Given the description of an element on the screen output the (x, y) to click on. 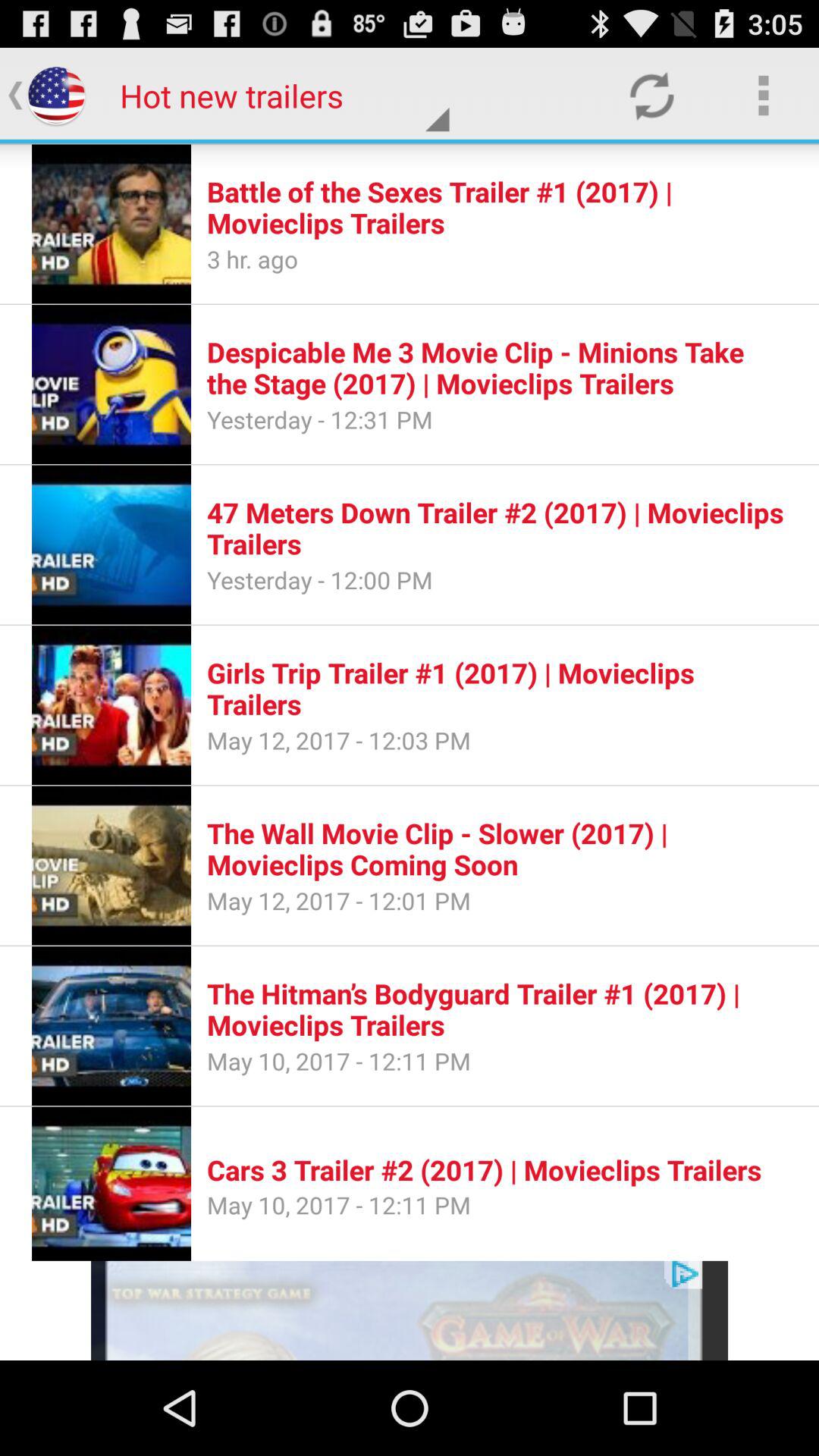
see advertisement (409, 1310)
